Given the description of an element on the screen output the (x, y) to click on. 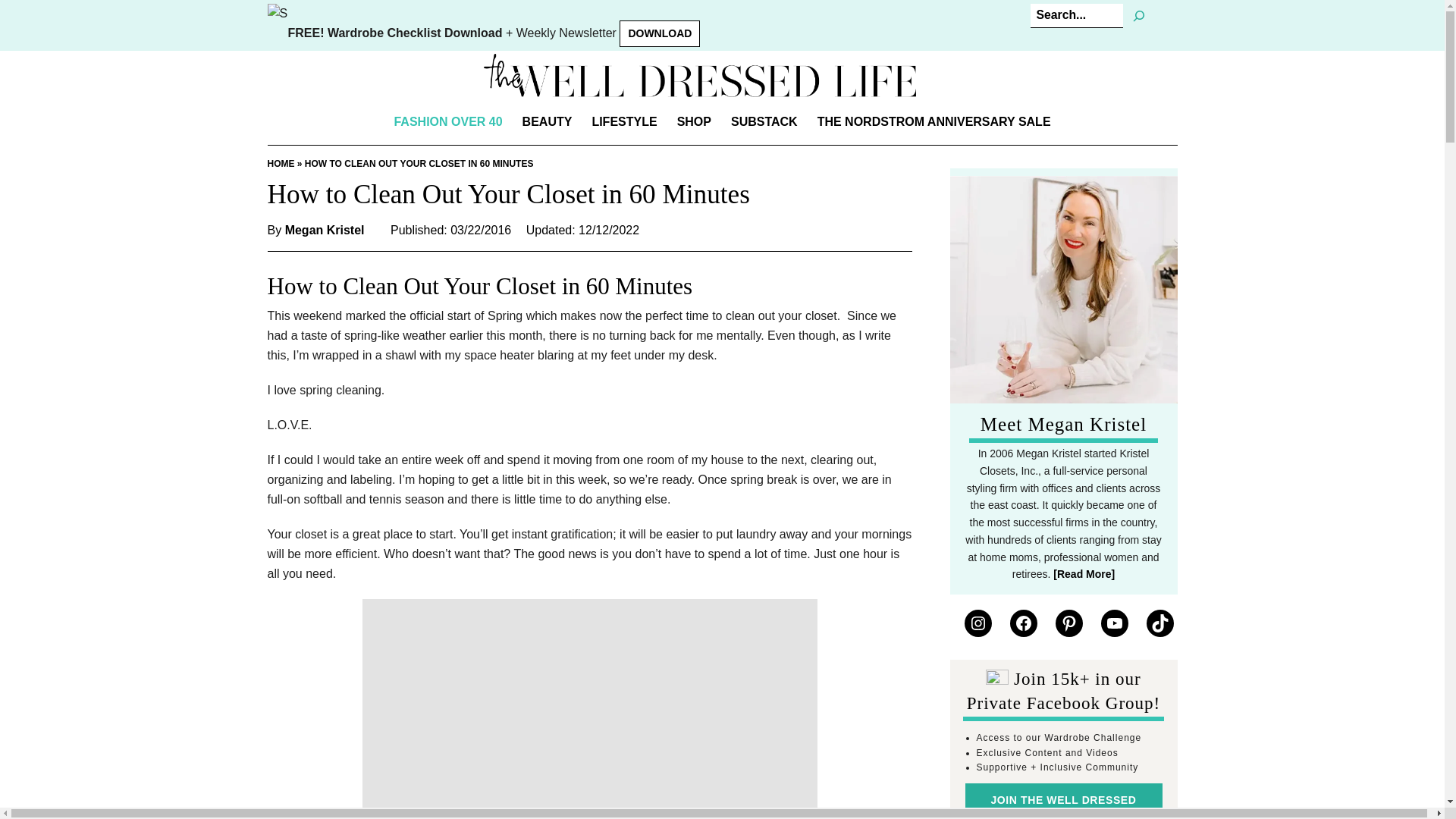
DOWNLOAD (660, 33)
THE NORDSTROM ANNIVERSARY SALE (934, 121)
The Well Dressed Life (699, 75)
SUBSTACK (764, 121)
LIFESTYLE (623, 121)
FASHION OVER 40 (448, 121)
BEAUTY (547, 121)
Megan Kristel (325, 230)
SHOP (693, 121)
HOME (280, 163)
